Given the description of an element on the screen output the (x, y) to click on. 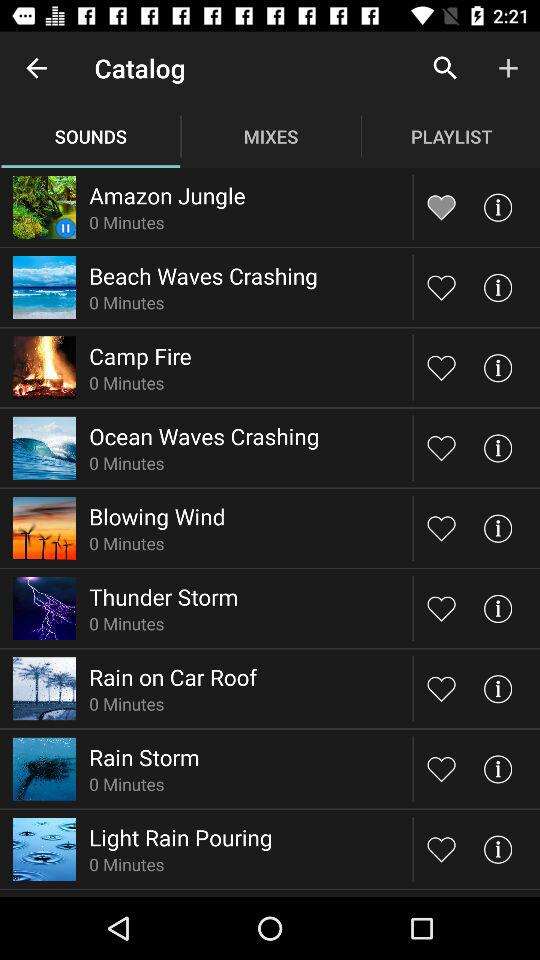
select for more information (498, 287)
